Given the description of an element on the screen output the (x, y) to click on. 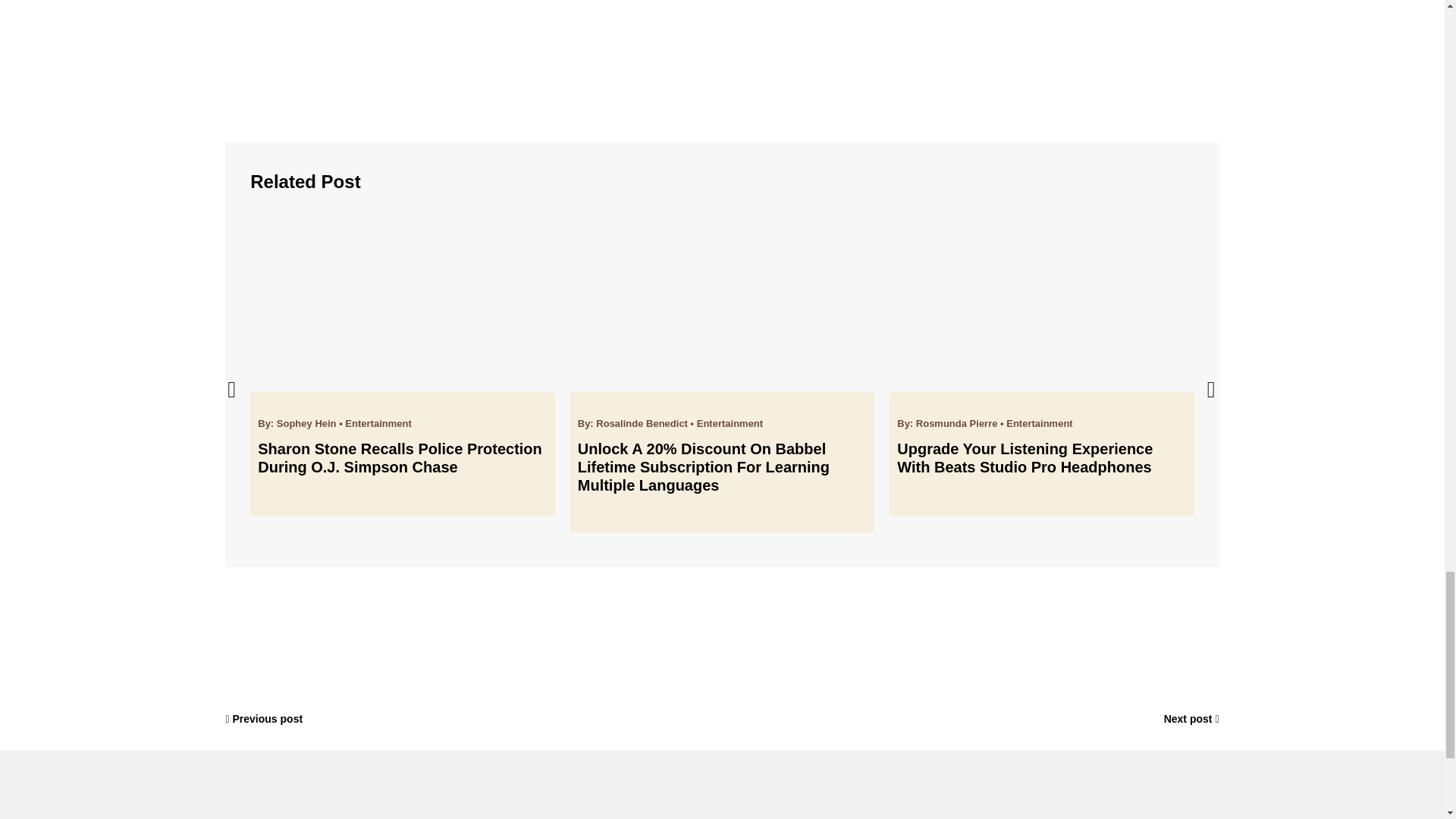
Splashnewsonline (320, 809)
